Given the description of an element on the screen output the (x, y) to click on. 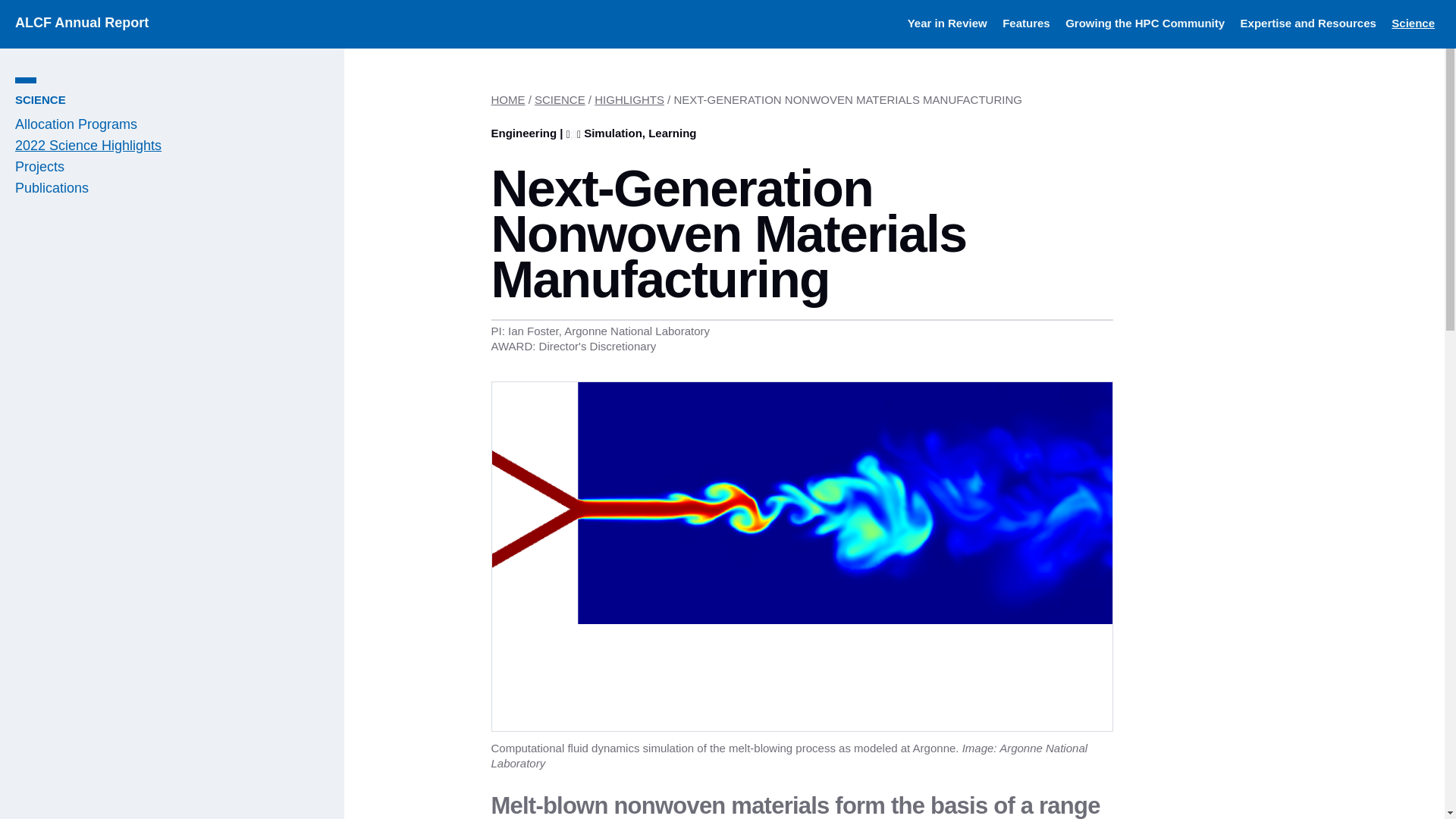
Publications (51, 187)
HOME (508, 99)
Allocation Programs (75, 124)
Growing the HPC Community (1144, 22)
SCIENCE (39, 99)
2022 Science Highlights (87, 145)
ALCF Annual Report (81, 22)
Projects (39, 166)
Year in Review (947, 22)
Science (1412, 22)
